Given the description of an element on the screen output the (x, y) to click on. 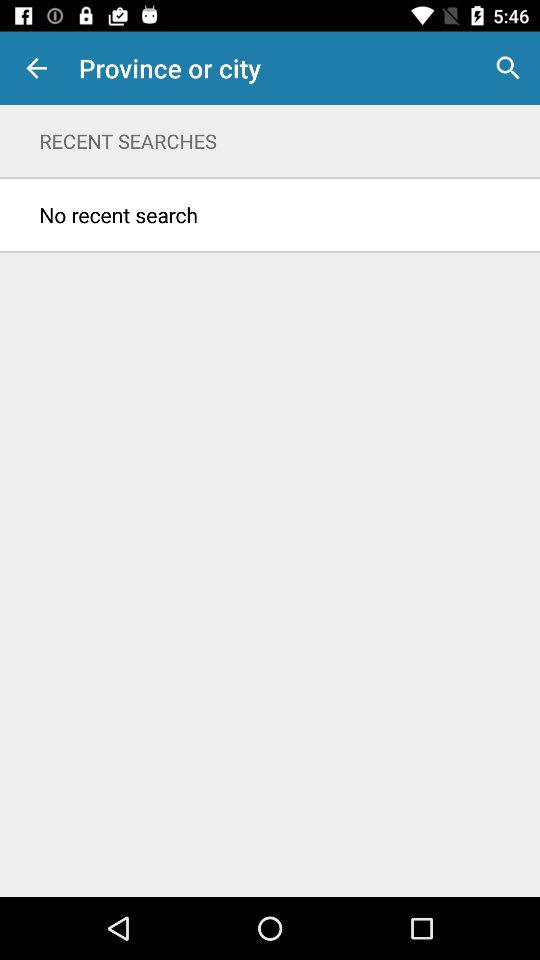
turn on the item next to the province or city item (36, 68)
